Given the description of an element on the screen output the (x, y) to click on. 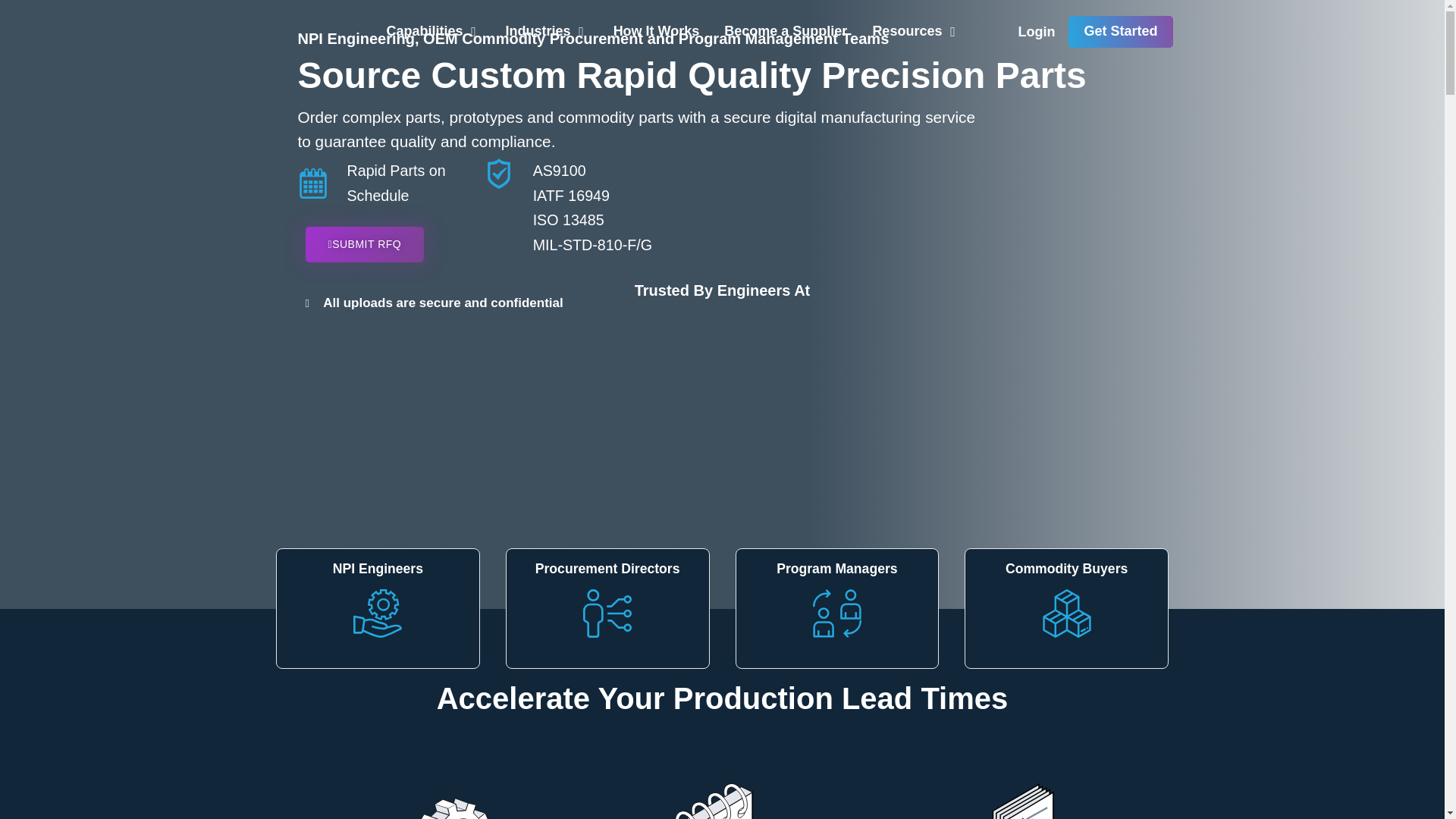
Industries (537, 31)
Get Started (1120, 31)
How It Works (656, 31)
Become a Supplier (785, 31)
Login (1035, 32)
Capabilities (425, 31)
Resources (907, 31)
SUBMIT RFQ (363, 244)
